Given the description of an element on the screen output the (x, y) to click on. 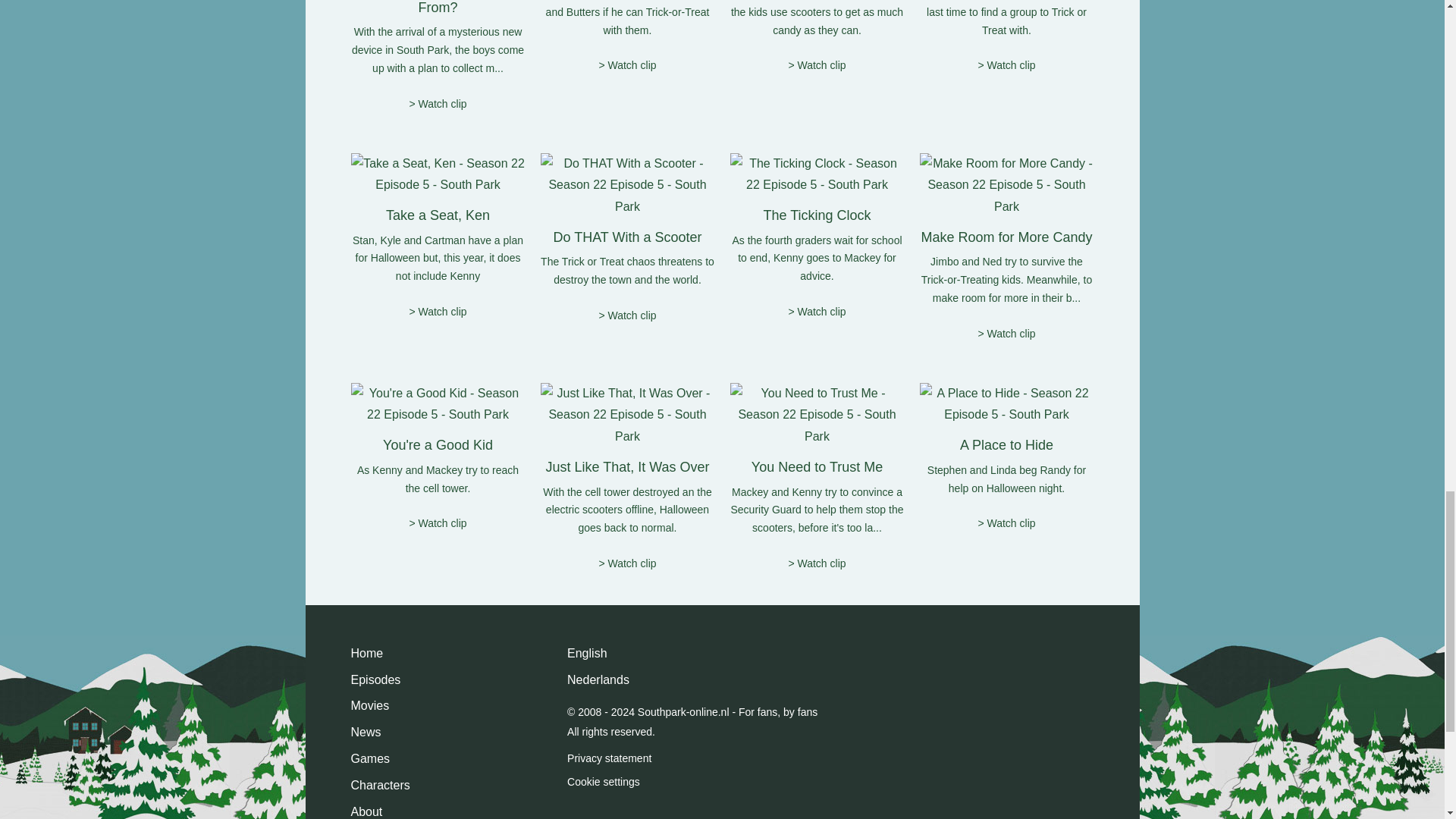
Take a Seat, Ken - Season 22 Episode 5 - South Park (437, 175)
You're a Good Kid - Season 22 Episode 5 - South Park (437, 404)
About (365, 810)
Make Room for More Candy - Season 22 Episode 5 - South Park (1005, 185)
News (365, 732)
You Need to Trust Me - Season 22 Episode 5 - South Park (816, 415)
The Ticking Clock - Season 22 Episode 5 - South Park (816, 175)
Episodes (375, 680)
A Place to Hide - Season 22 Episode 5 - South Park (1005, 404)
Games (370, 759)
Do THAT With a Scooter - Season 22 Episode 5 - South Park (627, 185)
Movies (369, 706)
Home (366, 653)
Characters (379, 785)
